Given the description of an element on the screen output the (x, y) to click on. 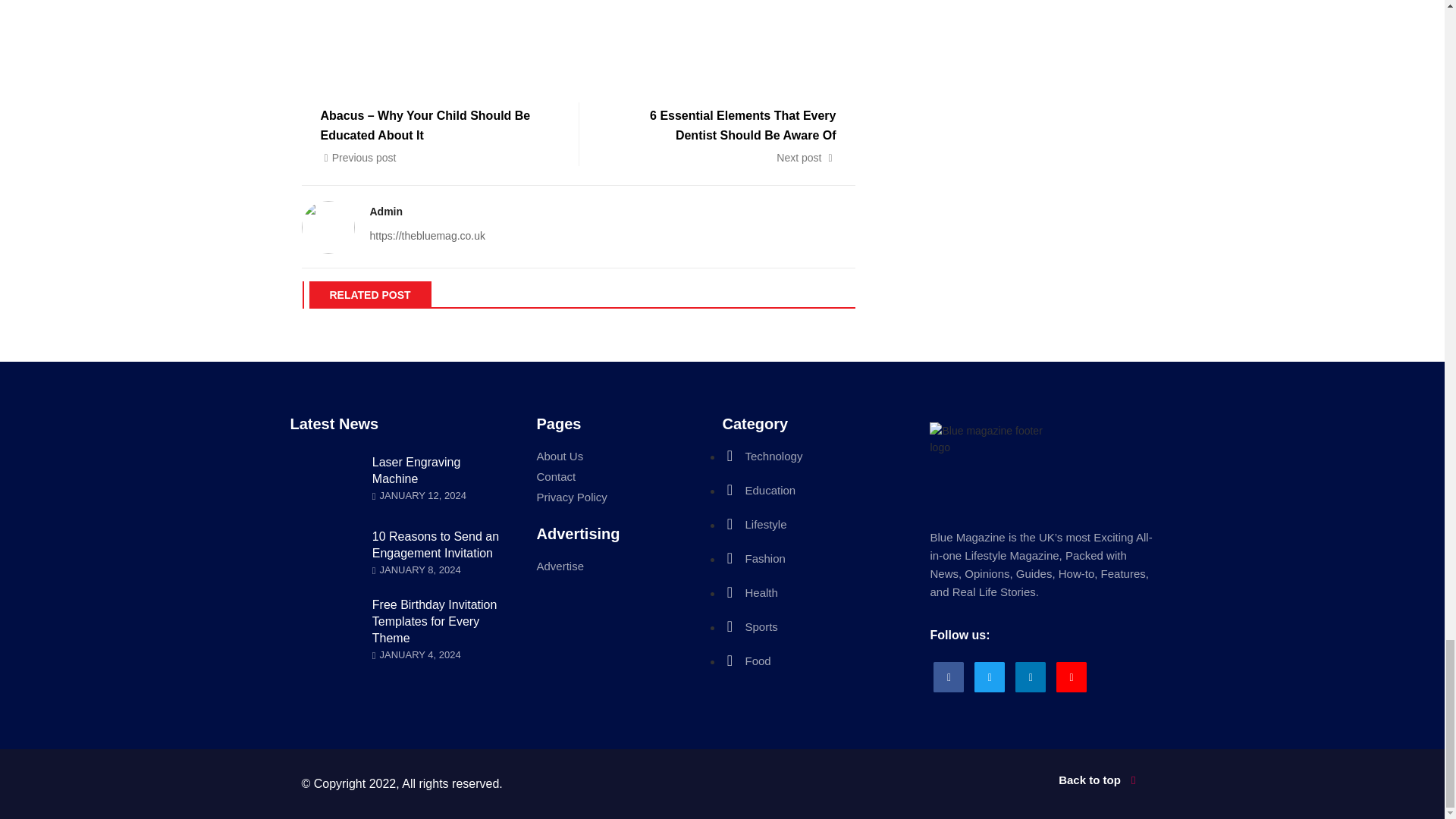
Free Birthday Invitation Templates for Every Theme in 2024 (434, 621)
Back to top (937, 780)
10 Reasons to Send an Engagement Invitation Message (435, 544)
Laser Engraving Machine (416, 470)
